Given the description of an element on the screen output the (x, y) to click on. 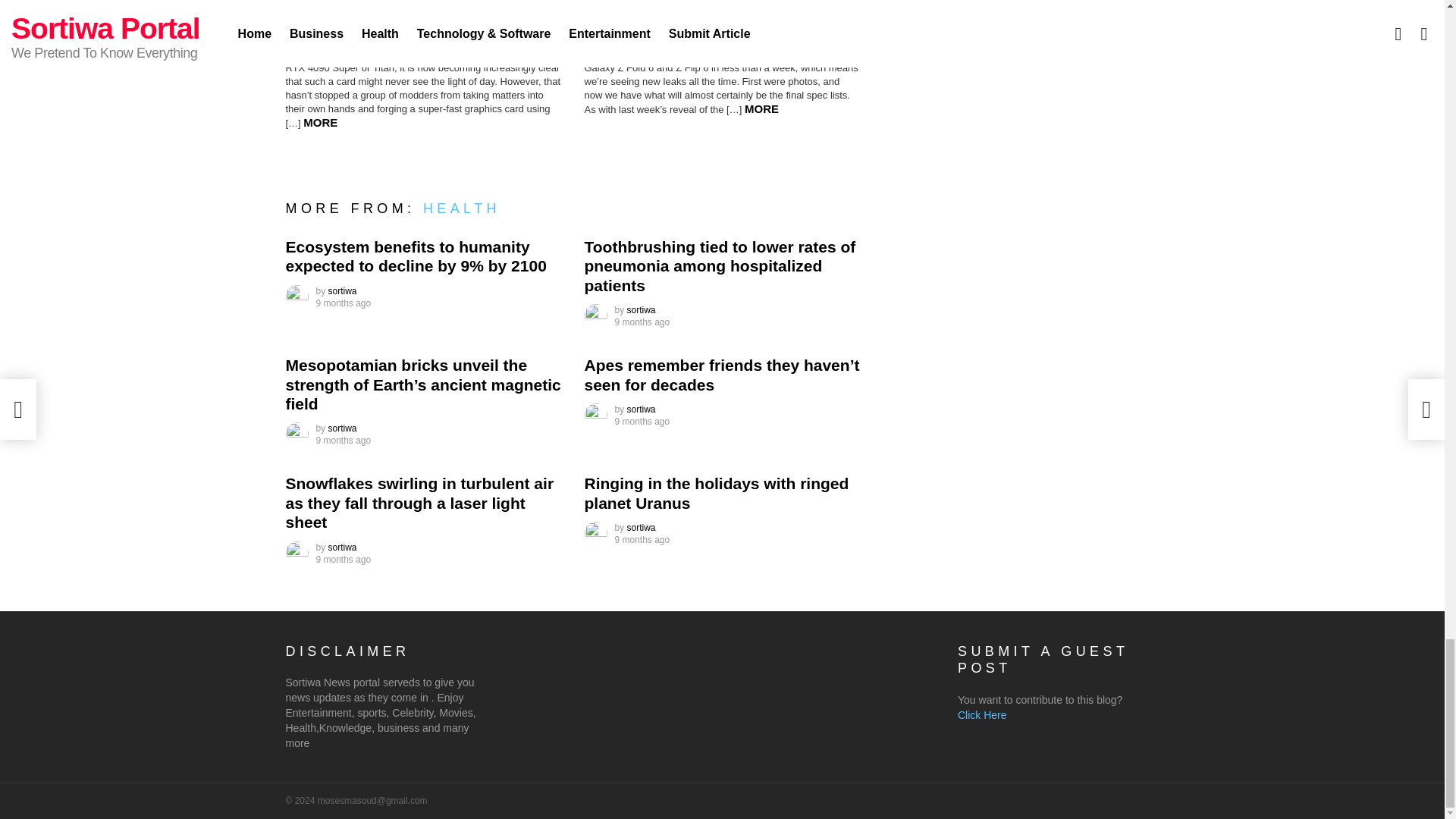
December 20, 2023, 3:53 am (343, 559)
Posts by sortiwa (342, 428)
Posts by sortiwa (342, 290)
Posts by sortiwa (641, 409)
December 20, 2023, 2:52 am (641, 539)
Posts by sortiwa (342, 547)
Posts by sortiwa (641, 527)
December 20, 2023, 5:56 am (343, 440)
December 20, 2023, 6:57 am (641, 322)
December 20, 2023, 7:57 am (343, 303)
